Given the description of an element on the screen output the (x, y) to click on. 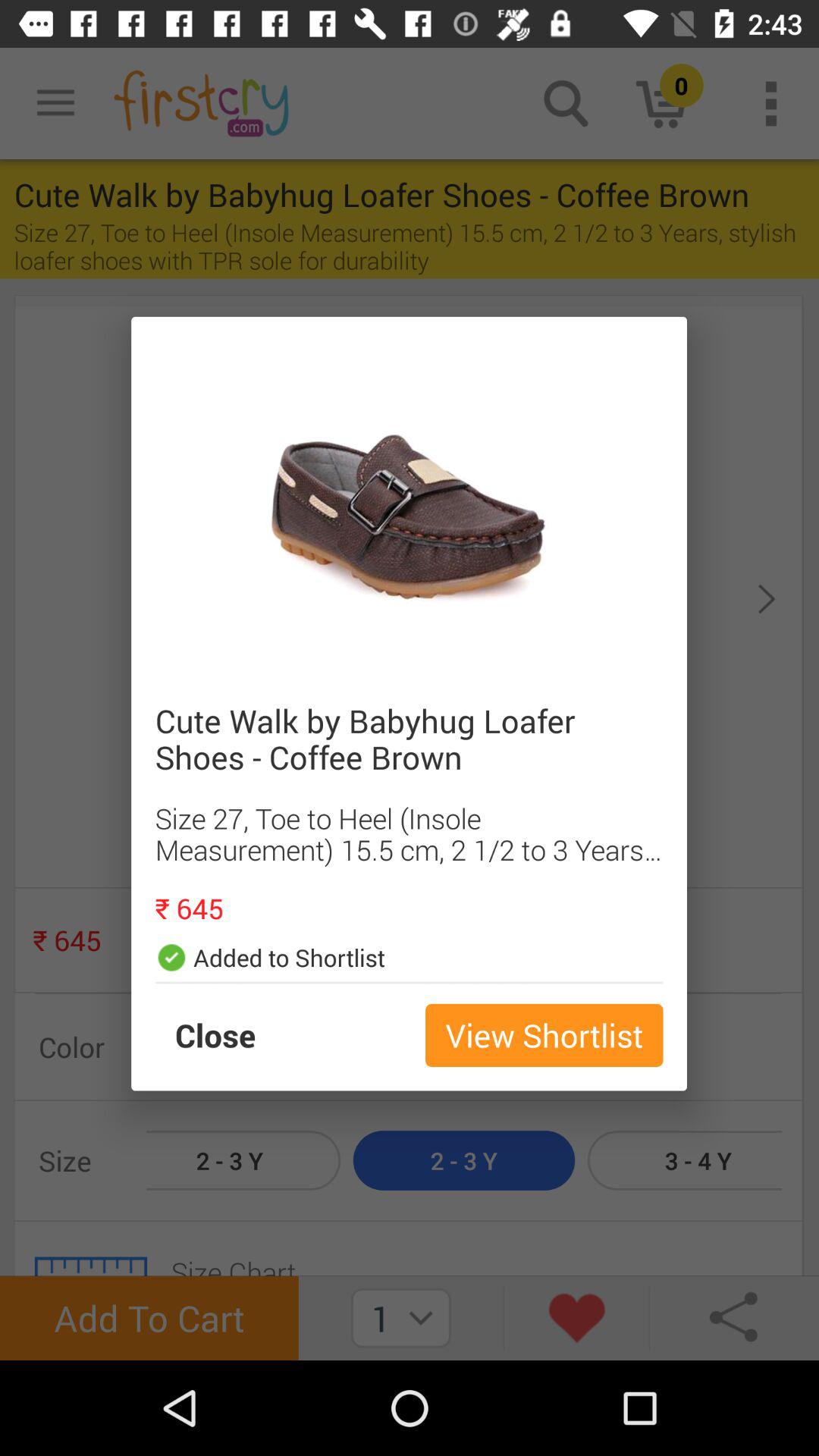
tap close icon (231, 1034)
